Given the description of an element on the screen output the (x, y) to click on. 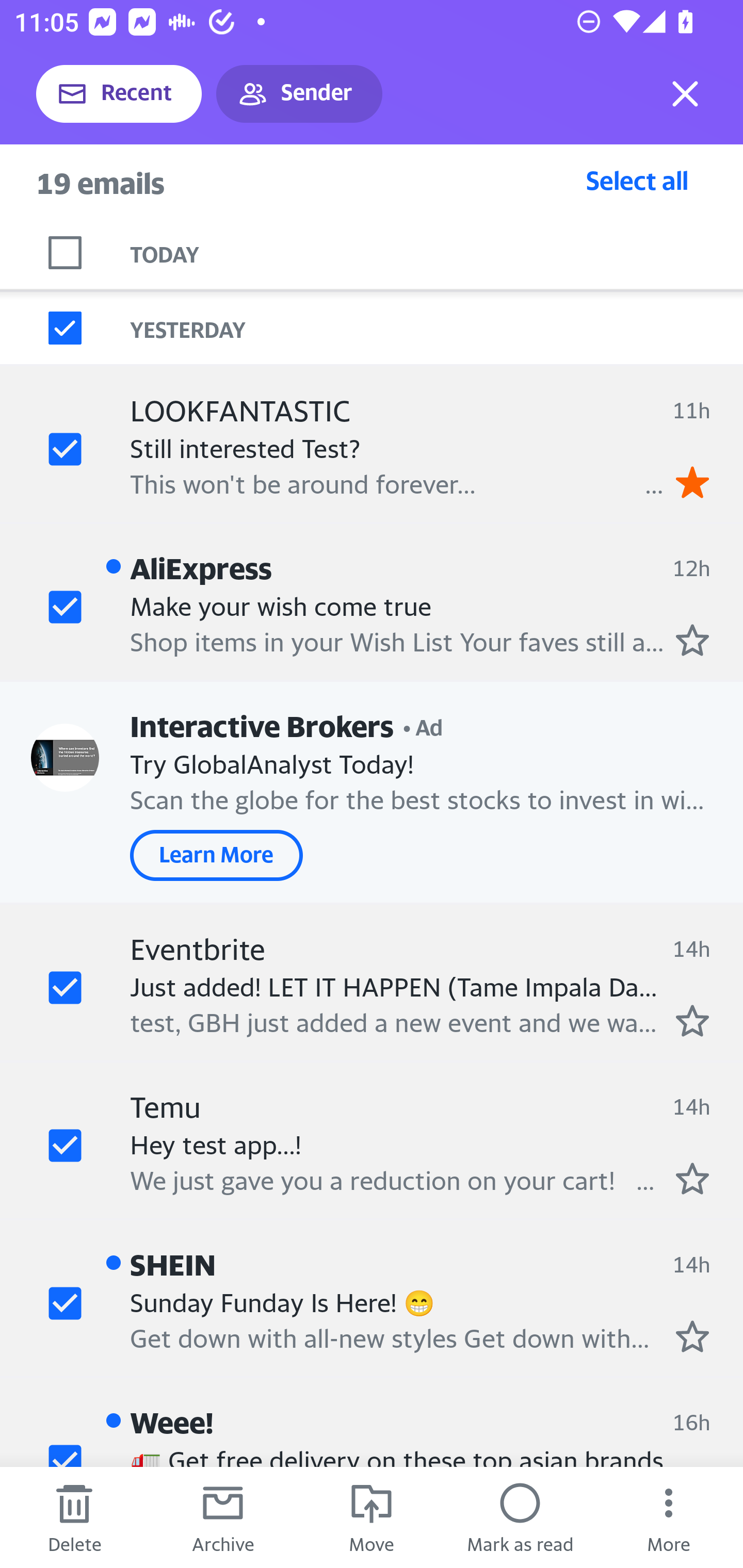
Sender (299, 93)
Exit selection mode (684, 93)
Select all (637, 180)
YESTERDAY (436, 328)
Remove star. (692, 482)
Mark as starred. (692, 640)
Mark as starred. (692, 1019)
Mark as starred. (692, 1178)
Mark as starred. (692, 1336)
Delete (74, 1517)
Archive (222, 1517)
Move (371, 1517)
Mark as read (519, 1517)
More (668, 1517)
